Given the description of an element on the screen output the (x, y) to click on. 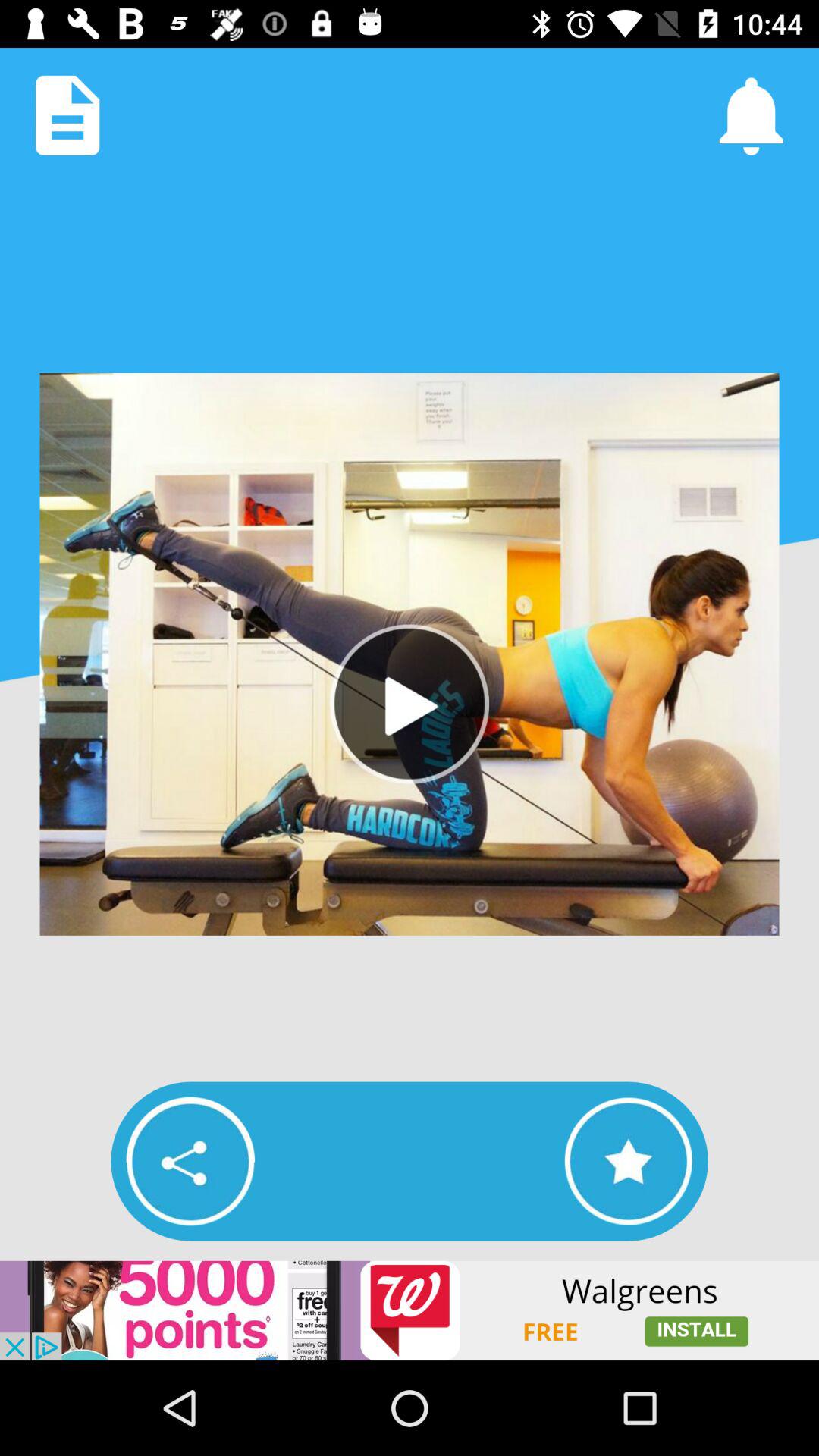
favorite the video (628, 1161)
